Given the description of an element on the screen output the (x, y) to click on. 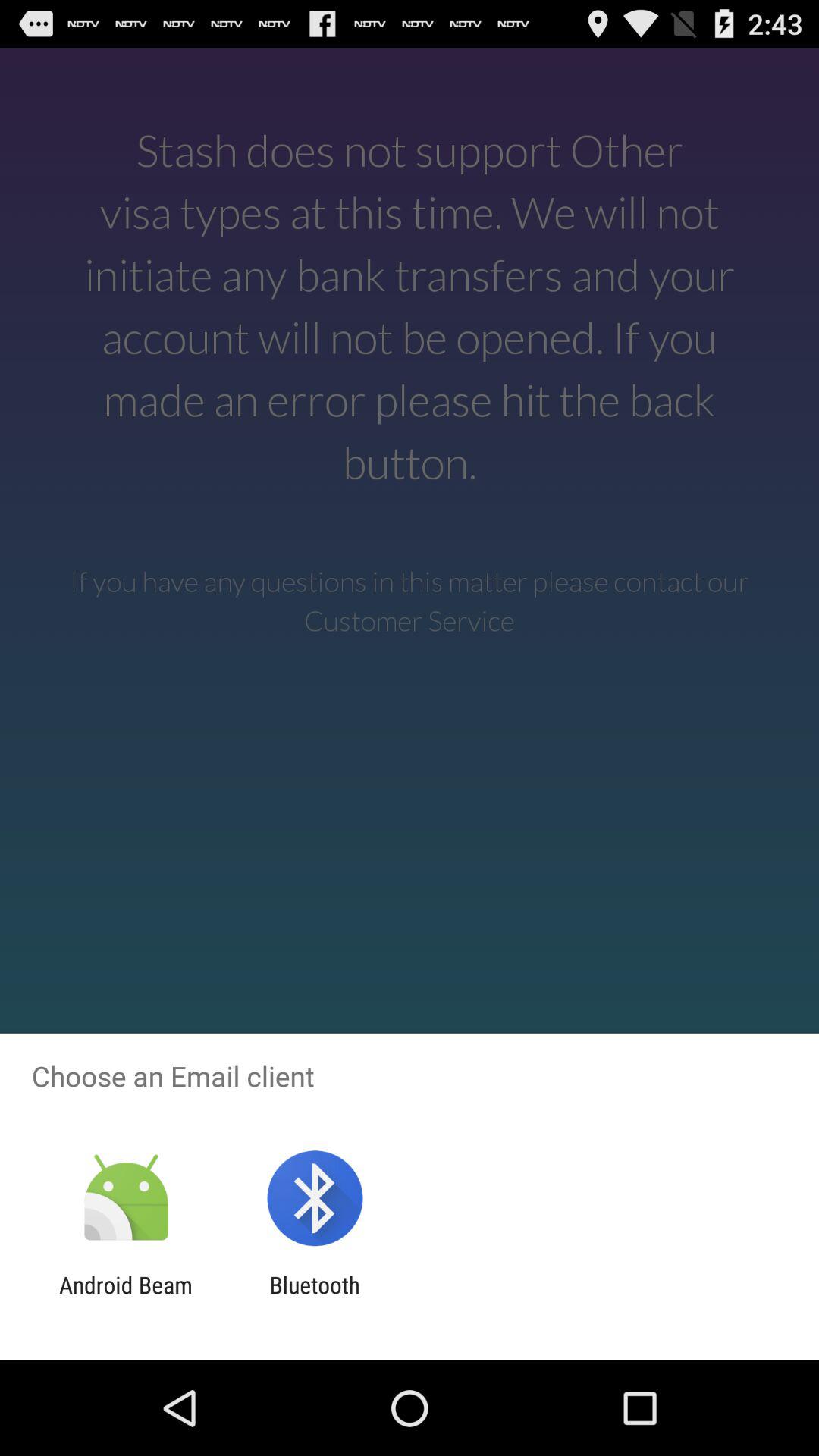
launch the app to the right of android beam icon (314, 1298)
